Given the description of an element on the screen output the (x, y) to click on. 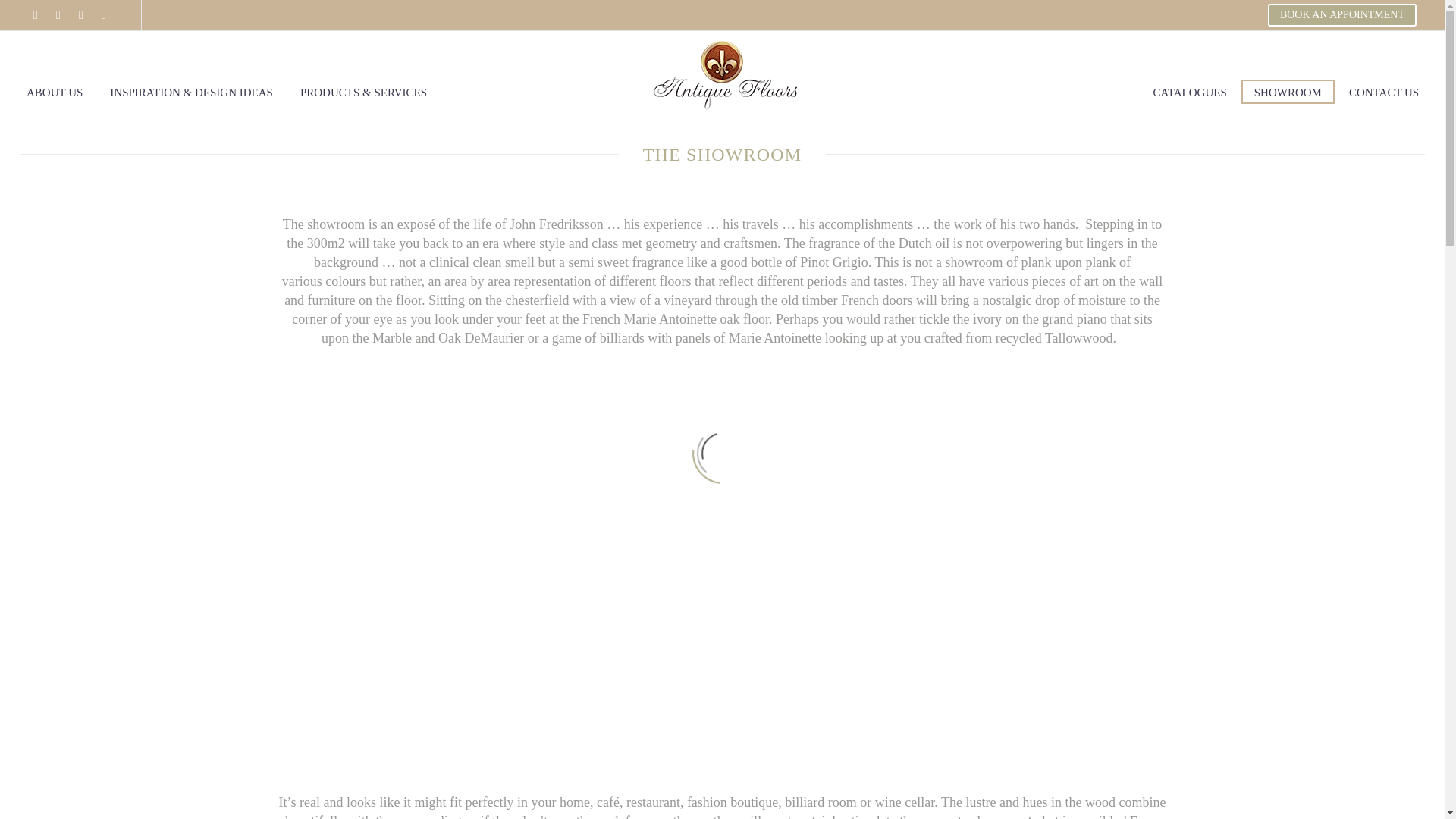
BOOK AN APPOINTMENT (1342, 15)
Facebook (35, 15)
Pinterest (104, 15)
CONTACT US (1383, 91)
CATALOGUES (1190, 91)
Instagram (81, 15)
SHOWROOM (1288, 91)
ABOUT US (54, 91)
LinkedIn (57, 15)
